Given the description of an element on the screen output the (x, y) to click on. 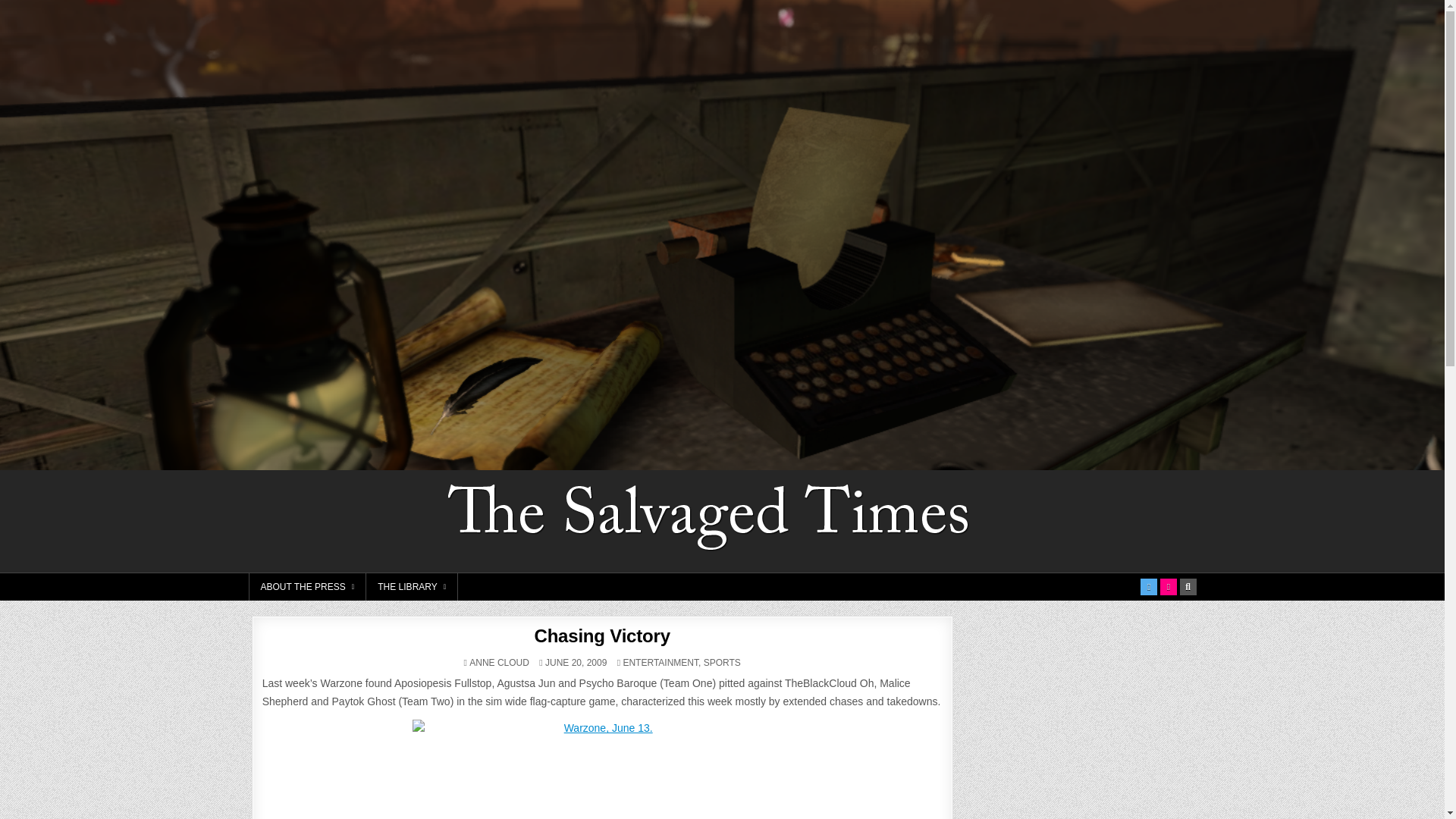
Warzone, June 13. (602, 769)
ENTERTAINMENT (660, 662)
ANNE CLOUD (498, 662)
THE LIBRARY (412, 586)
The Salvaged Times (1068, 484)
Chasing Victory (601, 635)
ABOUT THE PRESS (307, 586)
SPORTS (722, 662)
